Given the description of an element on the screen output the (x, y) to click on. 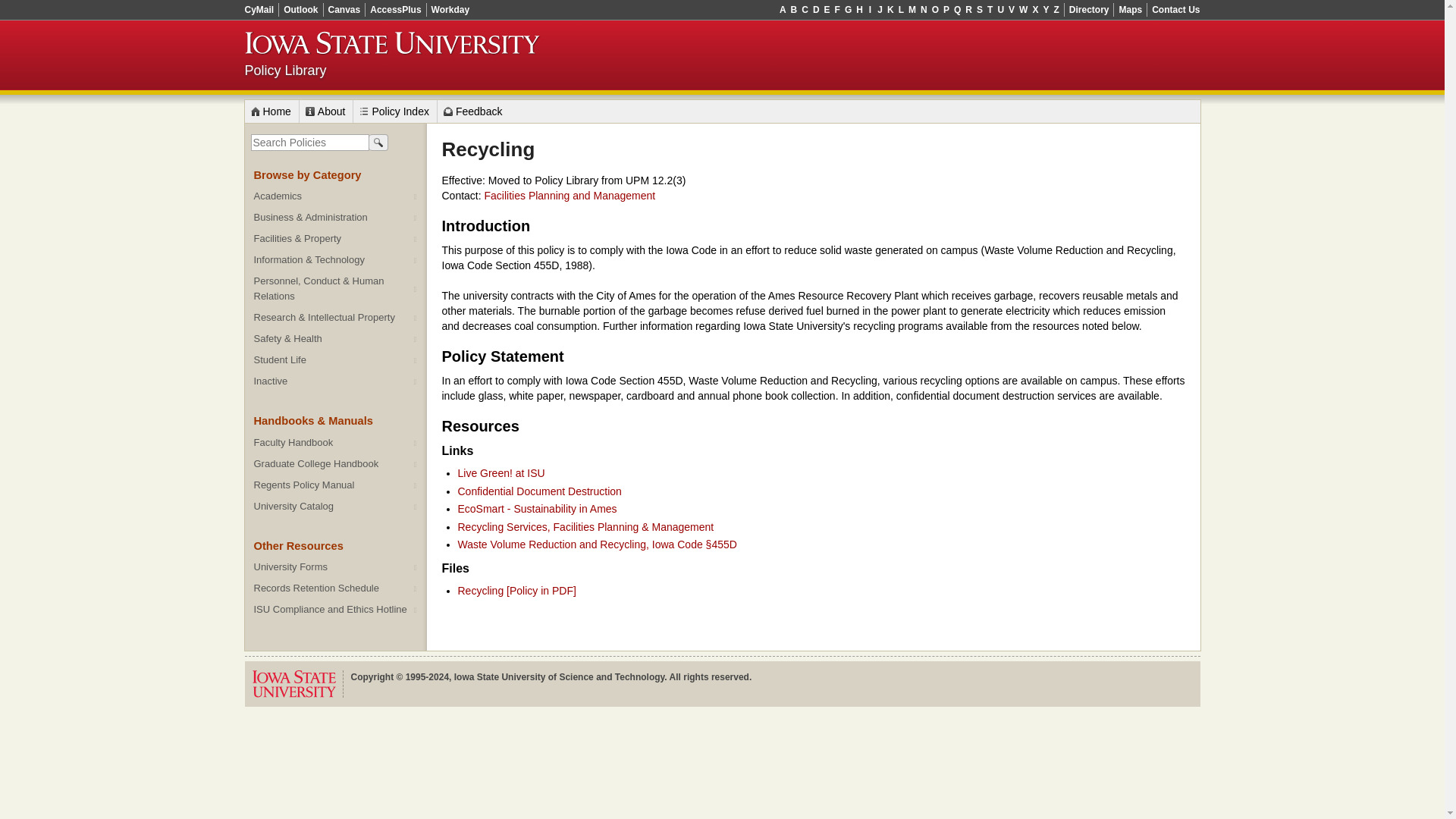
AccessPlus (395, 9)
Maps (1130, 9)
Contact Us (1173, 9)
Student Life (335, 360)
Canvas (344, 9)
Academics (335, 196)
Directory (1089, 9)
Search Policies (377, 141)
W (1022, 9)
Outlook (301, 9)
CyMail (261, 9)
Workday (447, 9)
Inactive (335, 381)
